Given the description of an element on the screen output the (x, y) to click on. 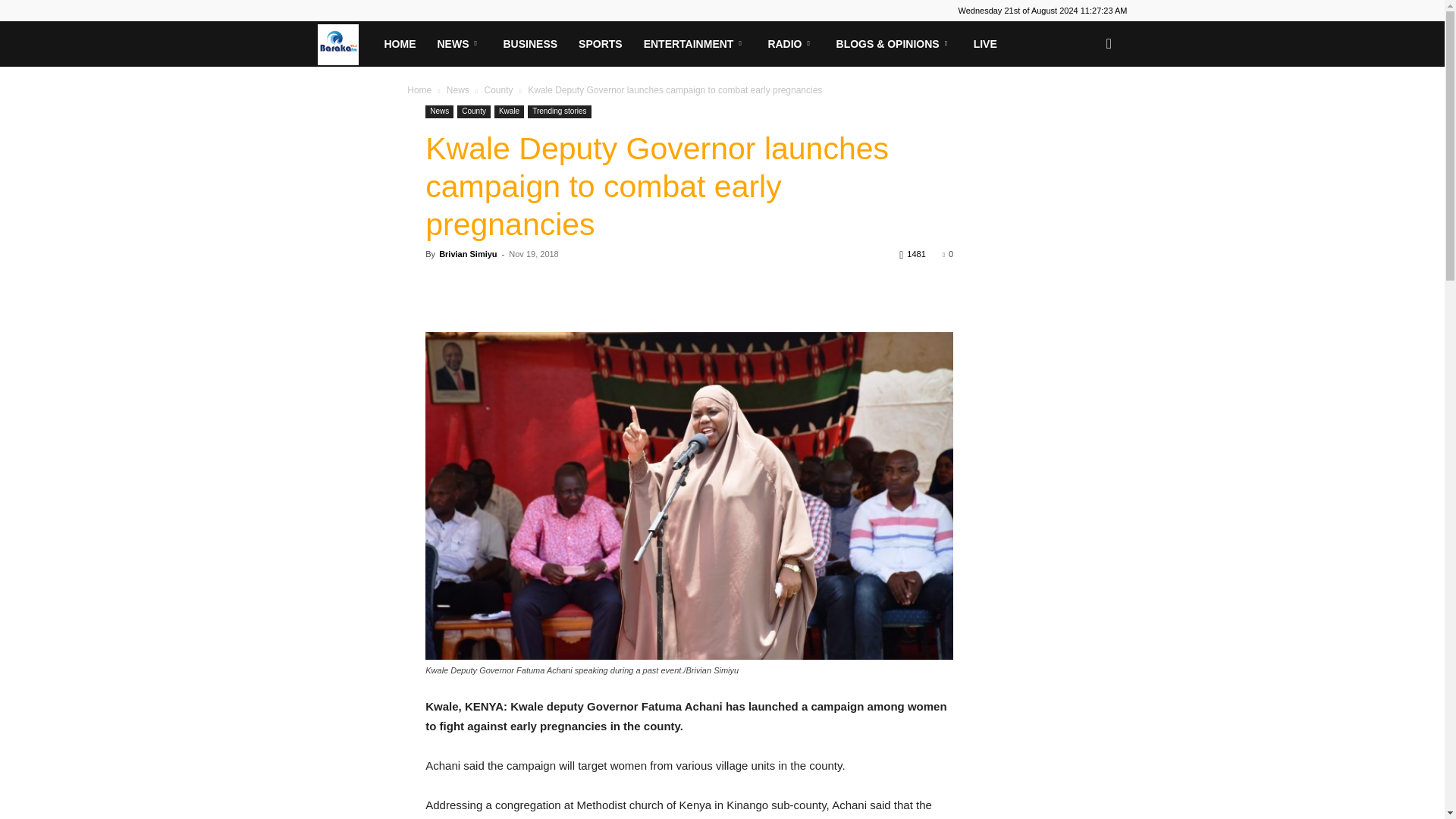
Baraka FM 95.5 (344, 43)
NEWS (459, 43)
HOME (399, 43)
